Given the description of an element on the screen output the (x, y) to click on. 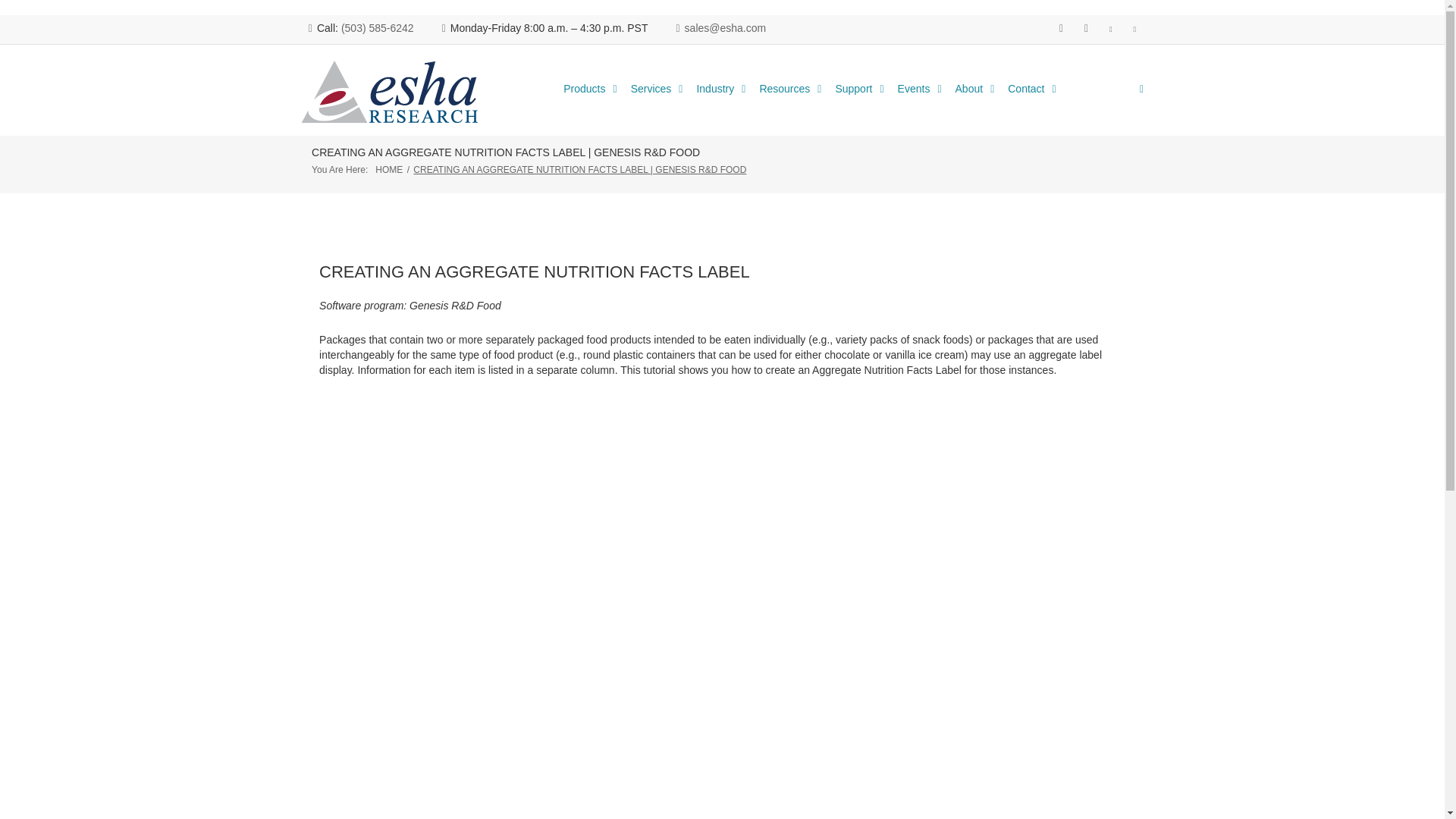
Industry (721, 89)
Services (657, 89)
Resources (790, 89)
Home (389, 169)
Products (590, 89)
